Given the description of an element on the screen output the (x, y) to click on. 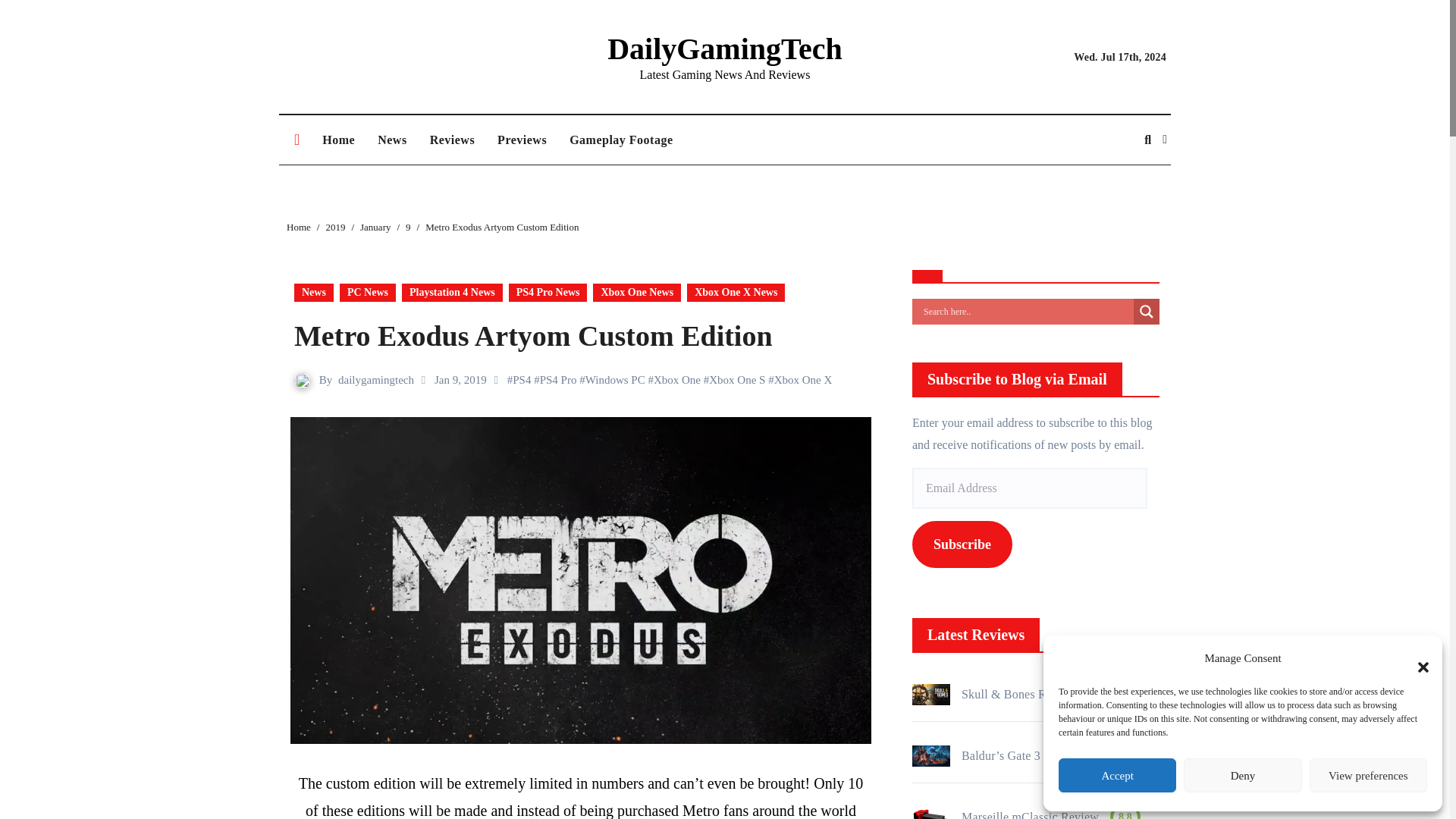
Accept (1117, 775)
Reviews (452, 139)
Reviews (452, 139)
Home (338, 139)
Home (338, 139)
News (391, 139)
Deny (1242, 775)
News (391, 139)
DailyGamingTech (725, 48)
View preferences (1367, 775)
